Given the description of an element on the screen output the (x, y) to click on. 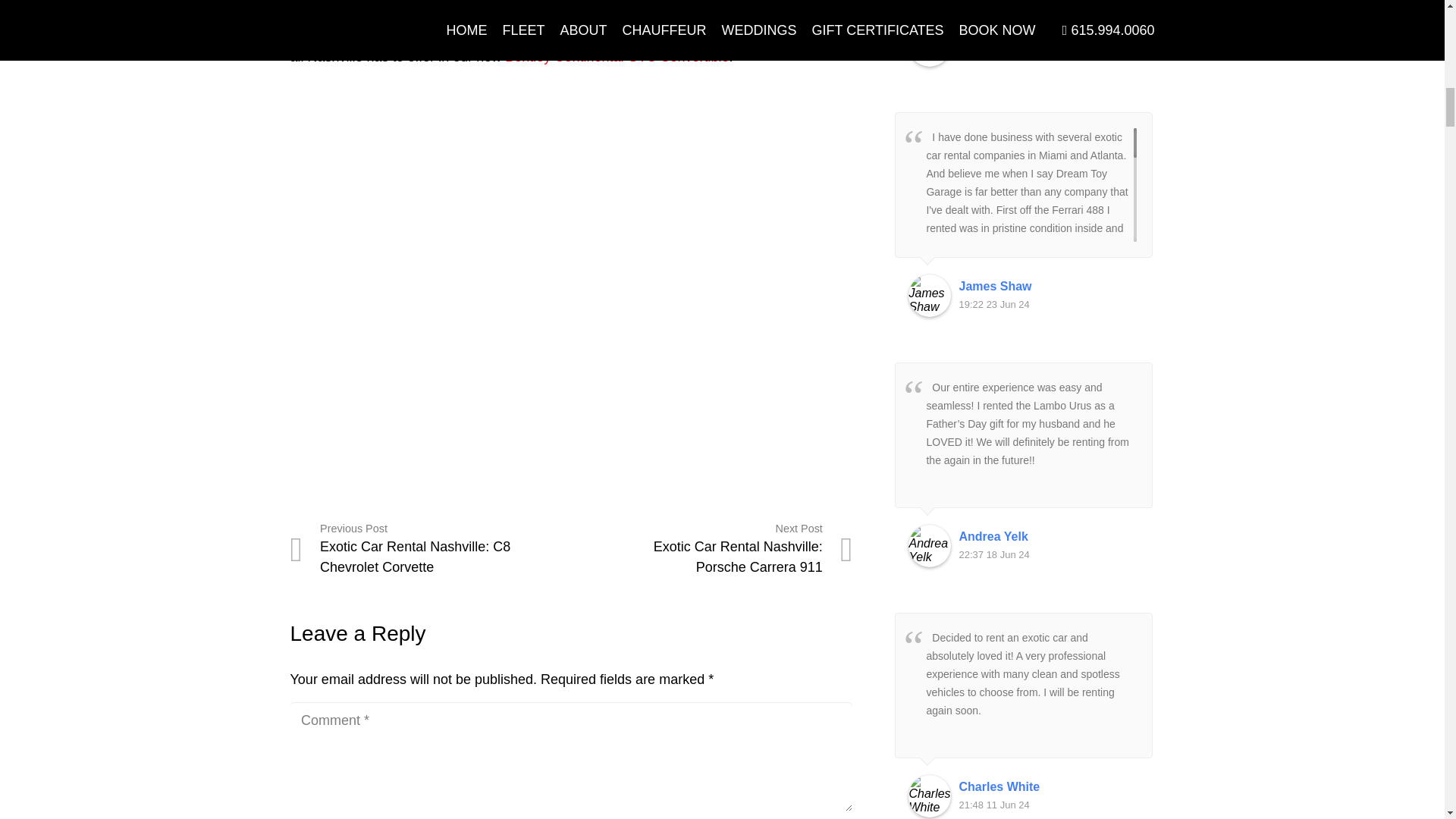
Bentley Continental GTC Convertible (617, 56)
Exotic Car Rental Nashville: C8 Chevrolet Corvette (429, 549)
Dream Toy Garage (598, 38)
Exotic Car Rental Nashville: Porsche Carrera 911 (710, 549)
